Given the description of an element on the screen output the (x, y) to click on. 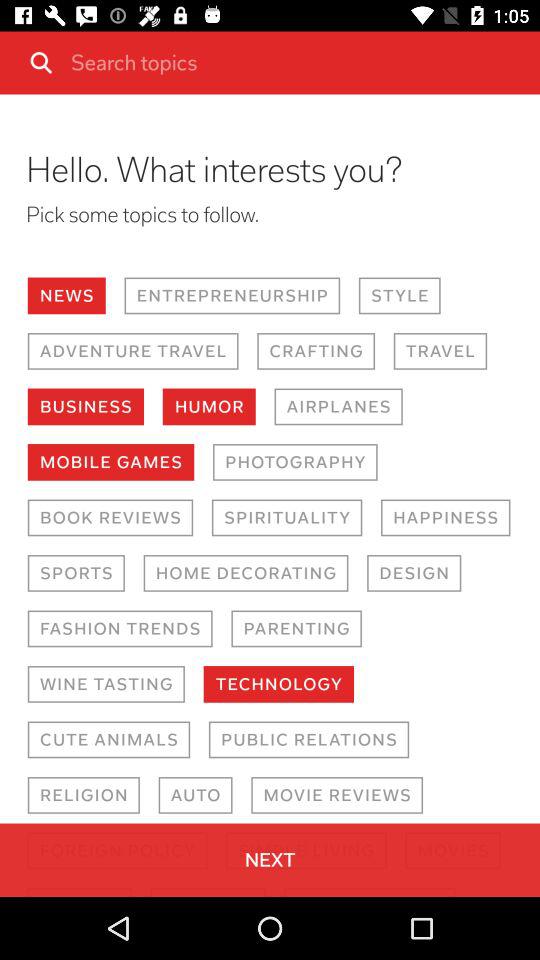
choose icon above the science icon (117, 850)
